Given the description of an element on the screen output the (x, y) to click on. 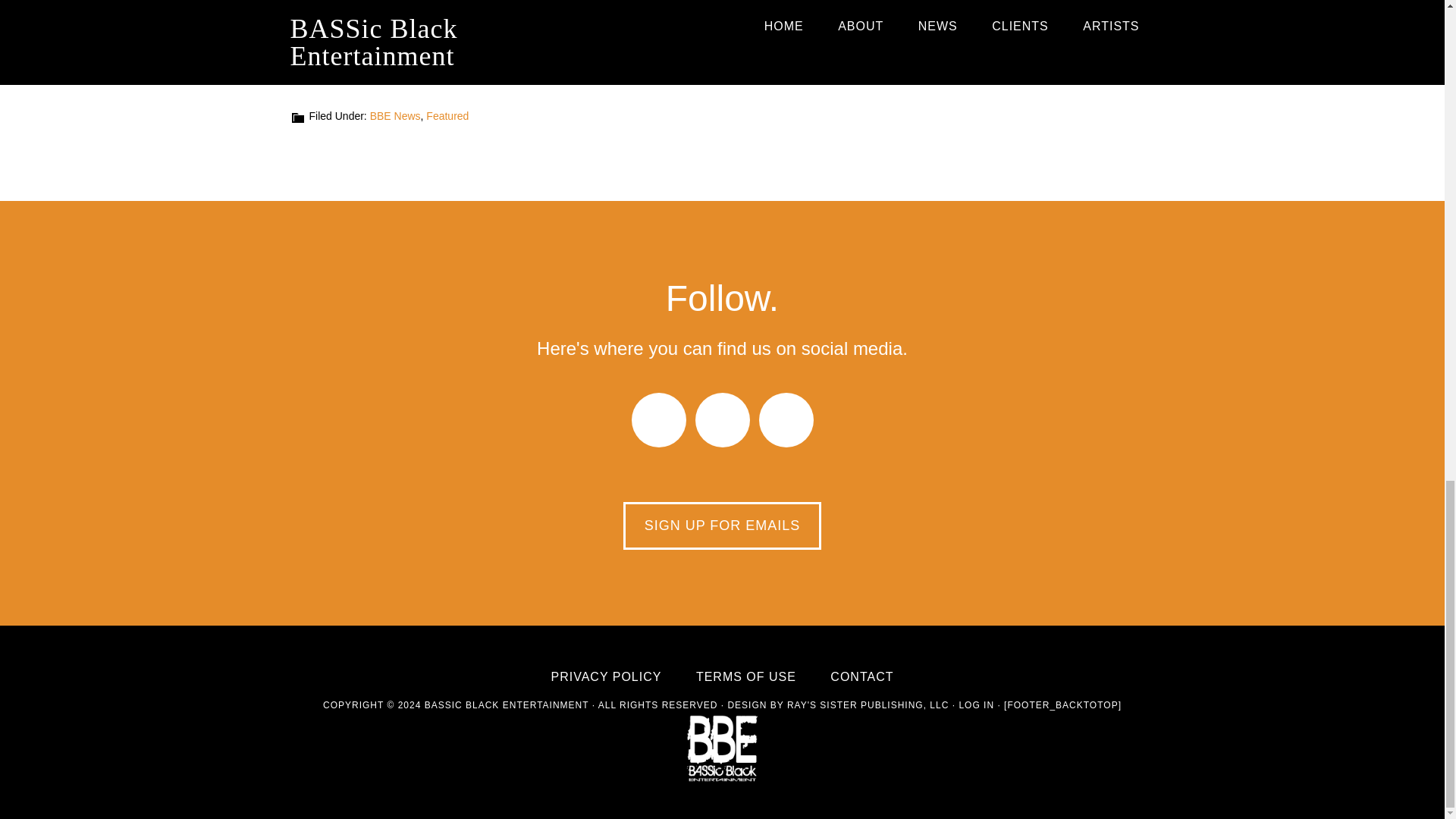
BBE News (394, 115)
LOG IN (976, 705)
PRIVACY POLICY (606, 676)
SIGN UP FOR EMAILS (722, 525)
TERMS OF USE (745, 676)
Featured (447, 115)
CONTACT (861, 676)
